Given the description of an element on the screen output the (x, y) to click on. 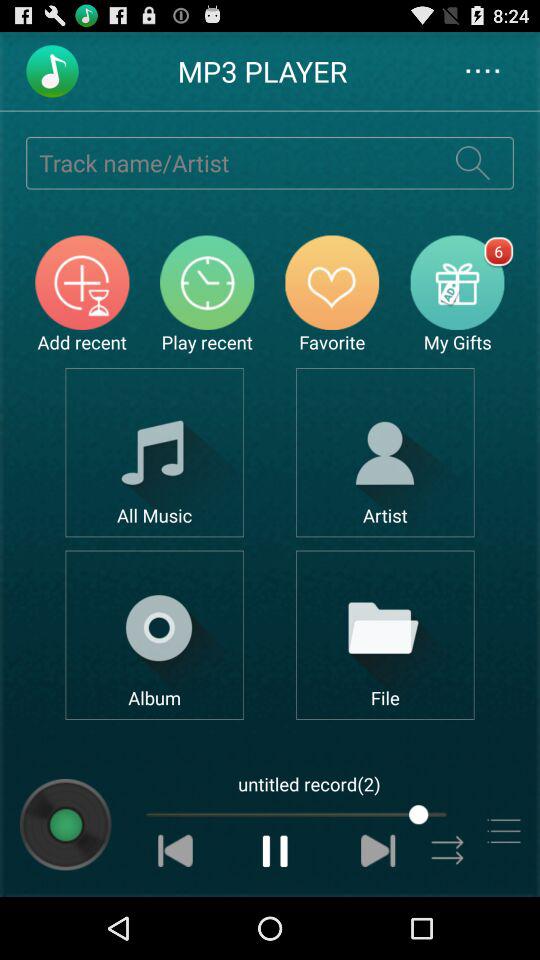
show all music (154, 452)
